Given the description of an element on the screen output the (x, y) to click on. 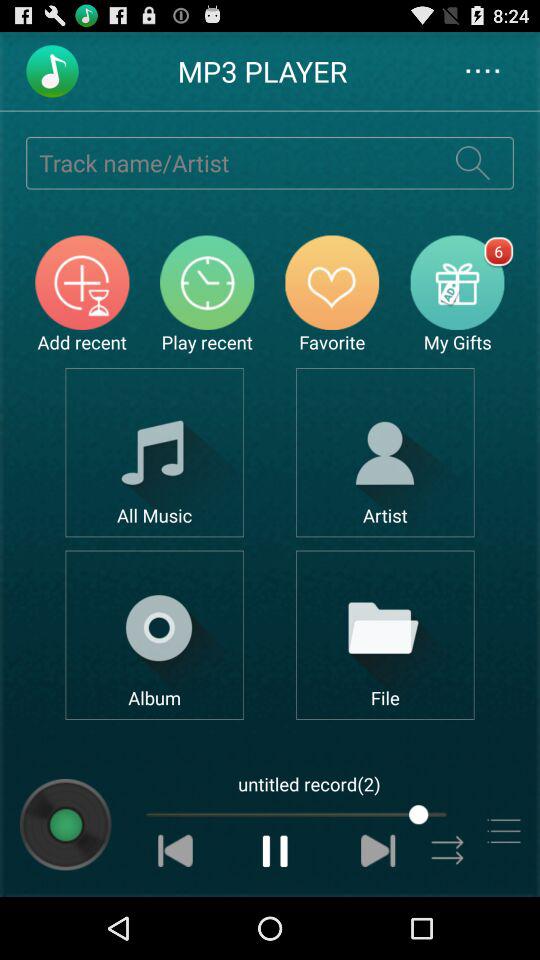
show all music (154, 452)
